Given the description of an element on the screen output the (x, y) to click on. 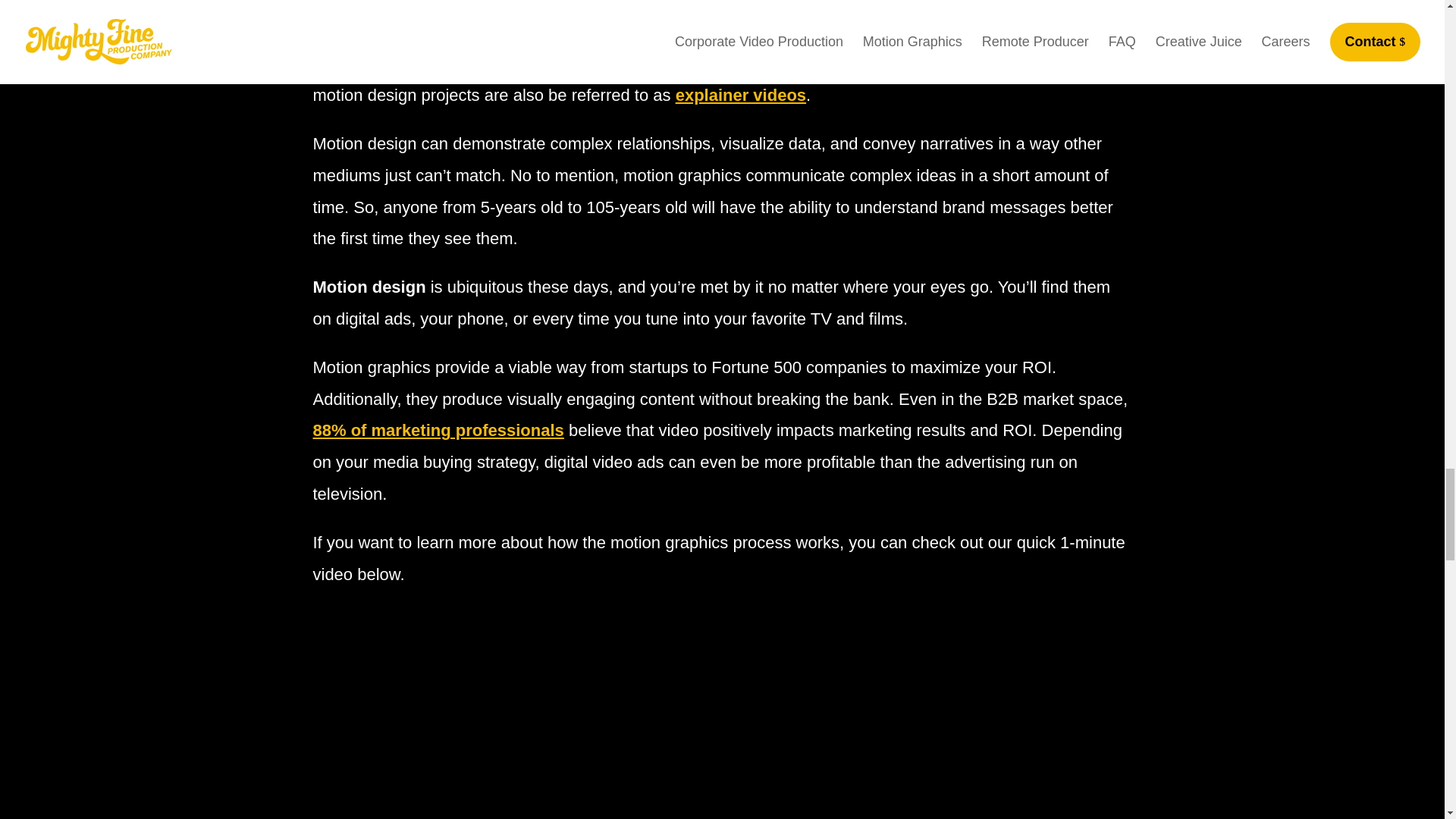
explainer videos (740, 94)
